Given the description of an element on the screen output the (x, y) to click on. 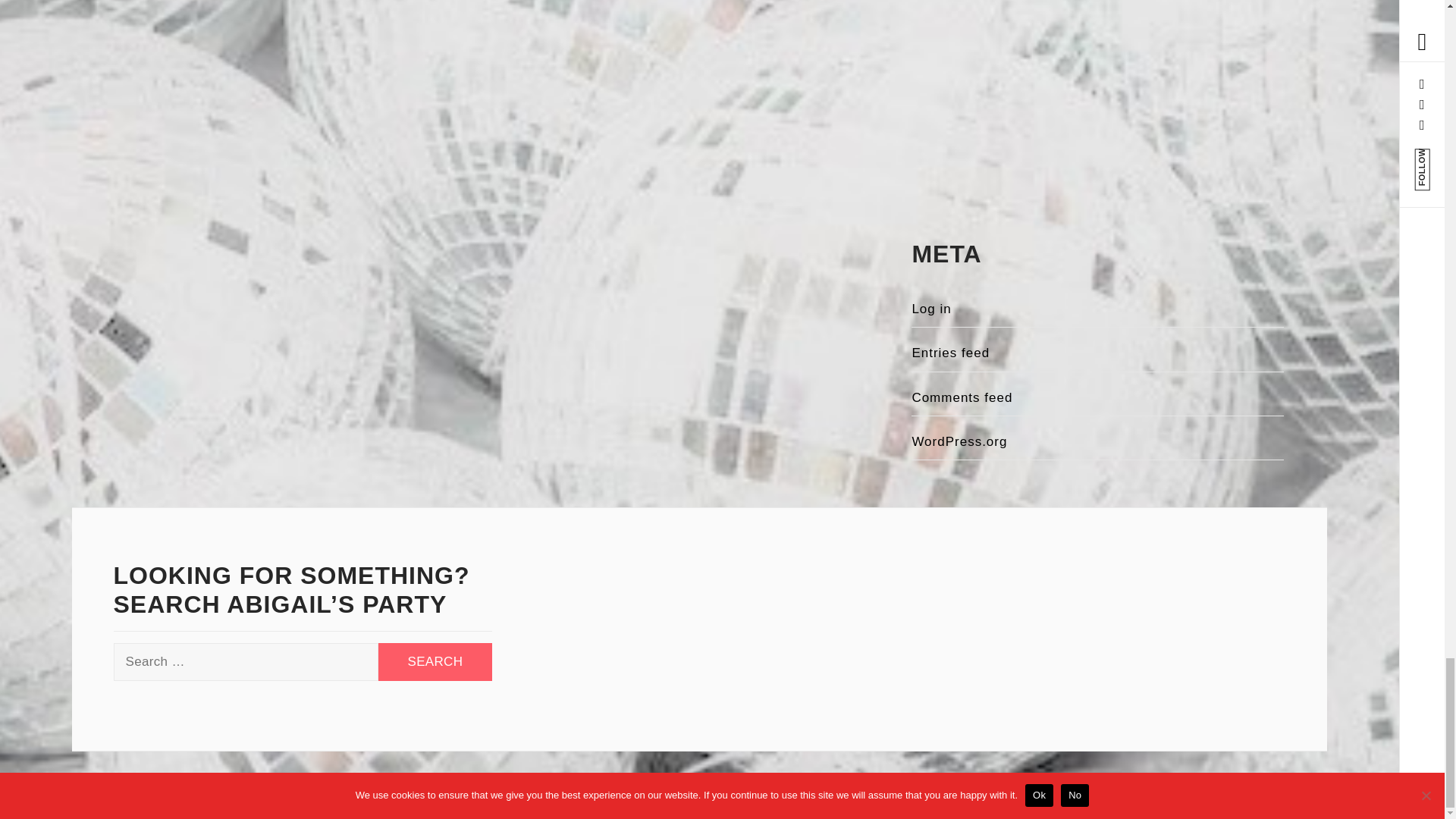
Search (435, 661)
Search (435, 661)
